Given the description of an element on the screen output the (x, y) to click on. 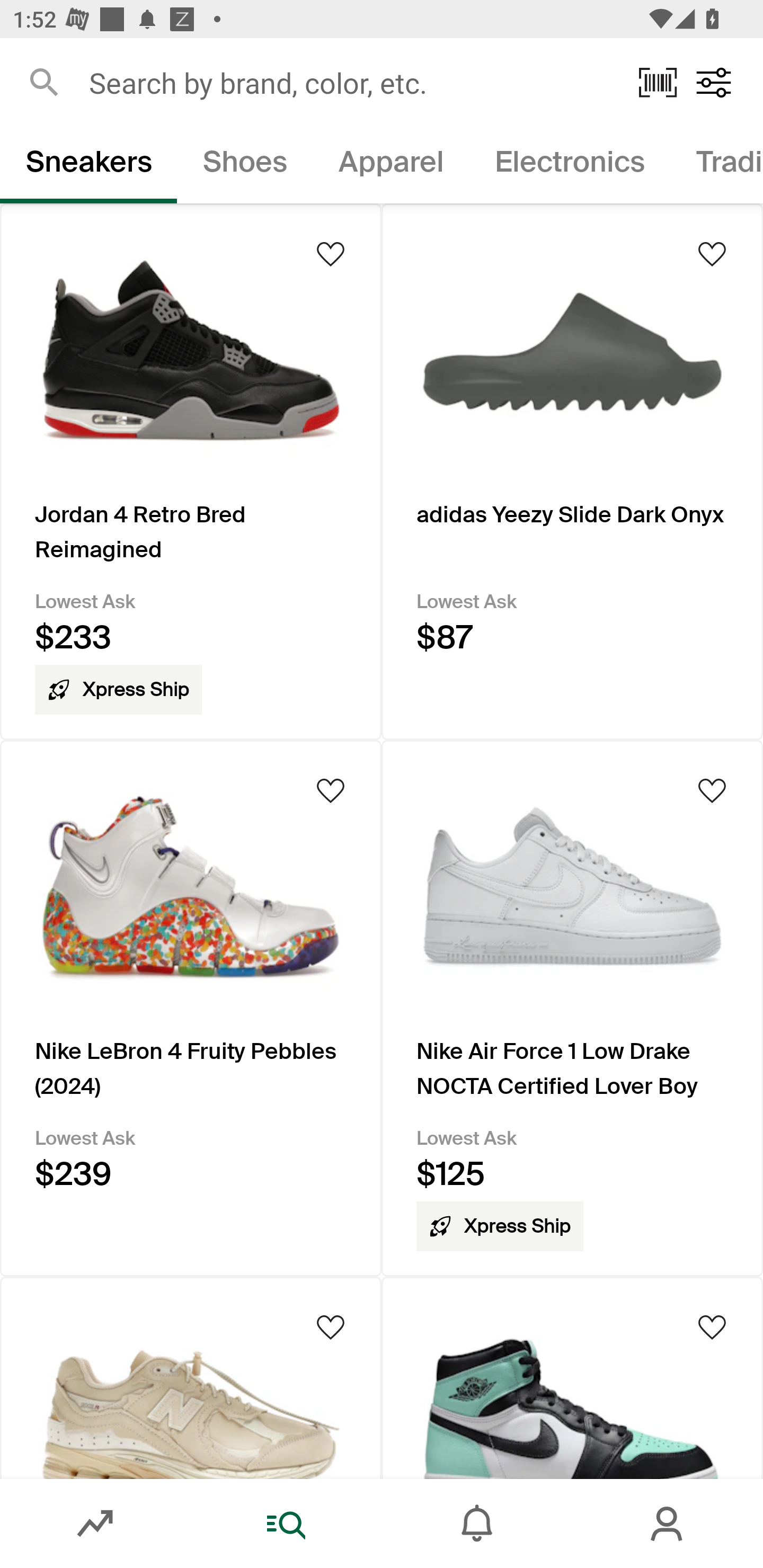
Search by brand, color, etc. (351, 82)
Shoes (244, 165)
Apparel (390, 165)
Electronics (569, 165)
Trading Cards (716, 165)
Product Image (190, 1377)
Product Image (572, 1377)
Market (95, 1523)
Inbox (476, 1523)
Account (667, 1523)
